Given the description of an element on the screen output the (x, y) to click on. 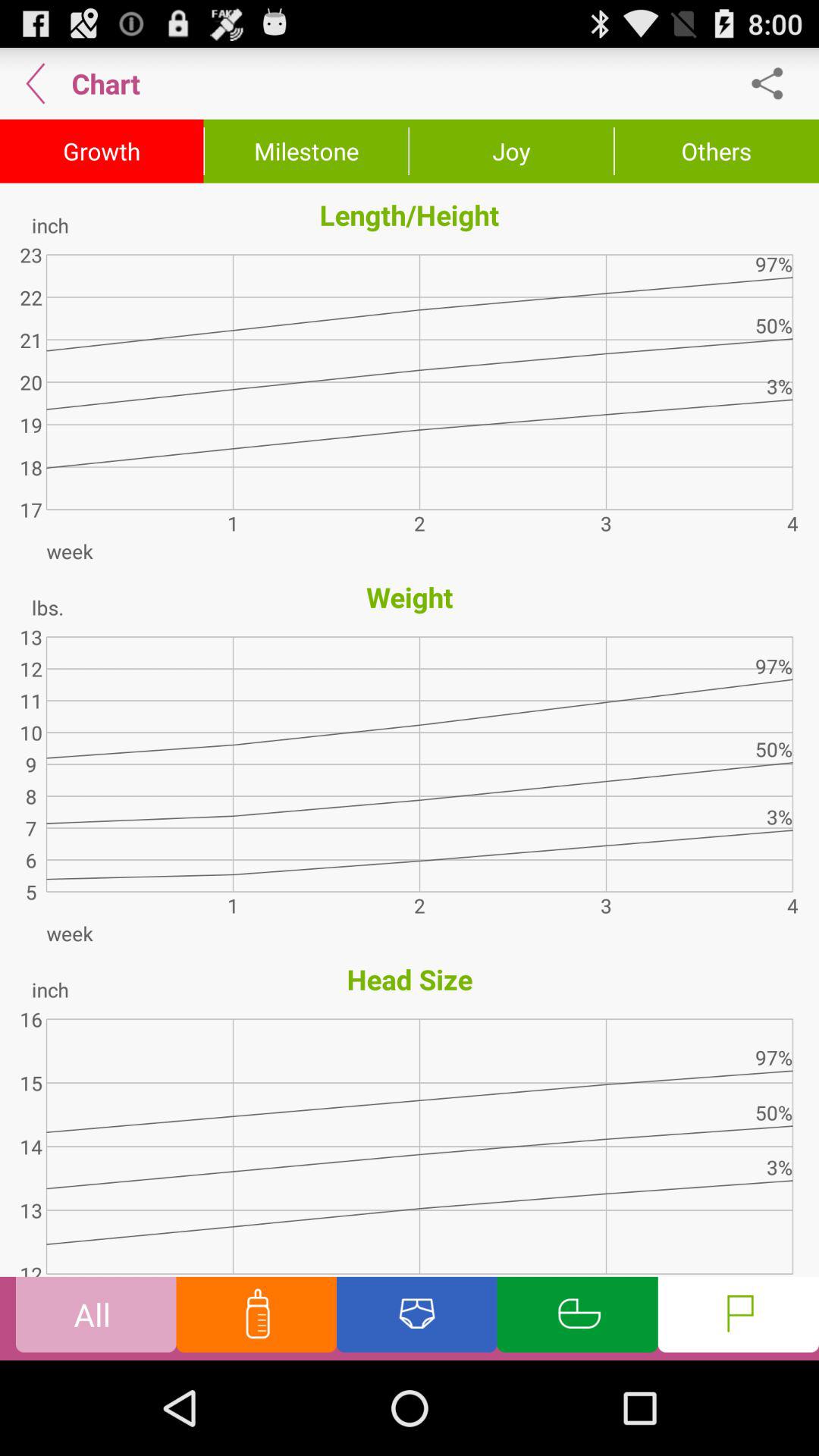
click others (716, 151)
